Given the description of an element on the screen output the (x, y) to click on. 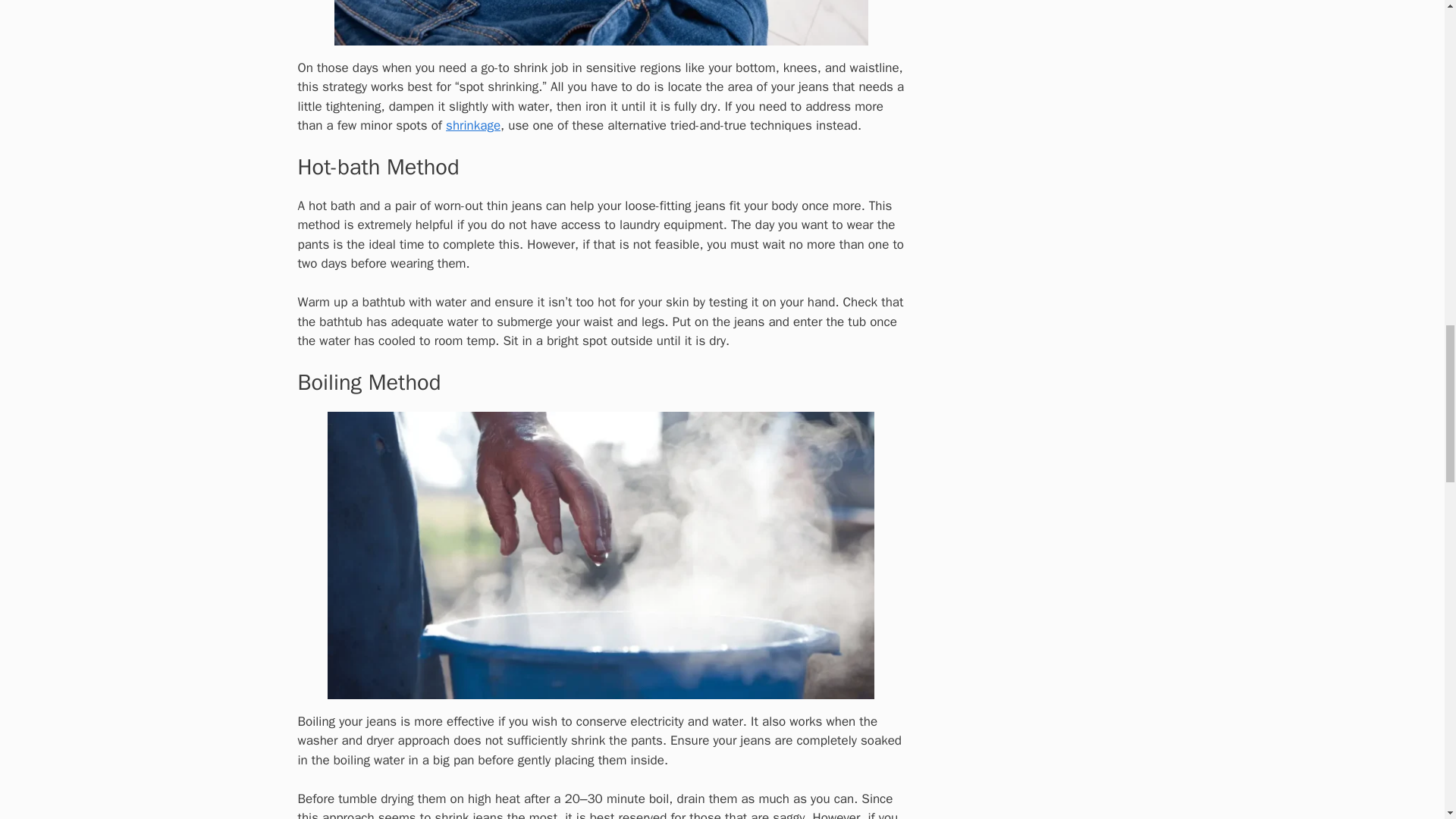
shrinkage (472, 125)
